Given the description of an element on the screen output the (x, y) to click on. 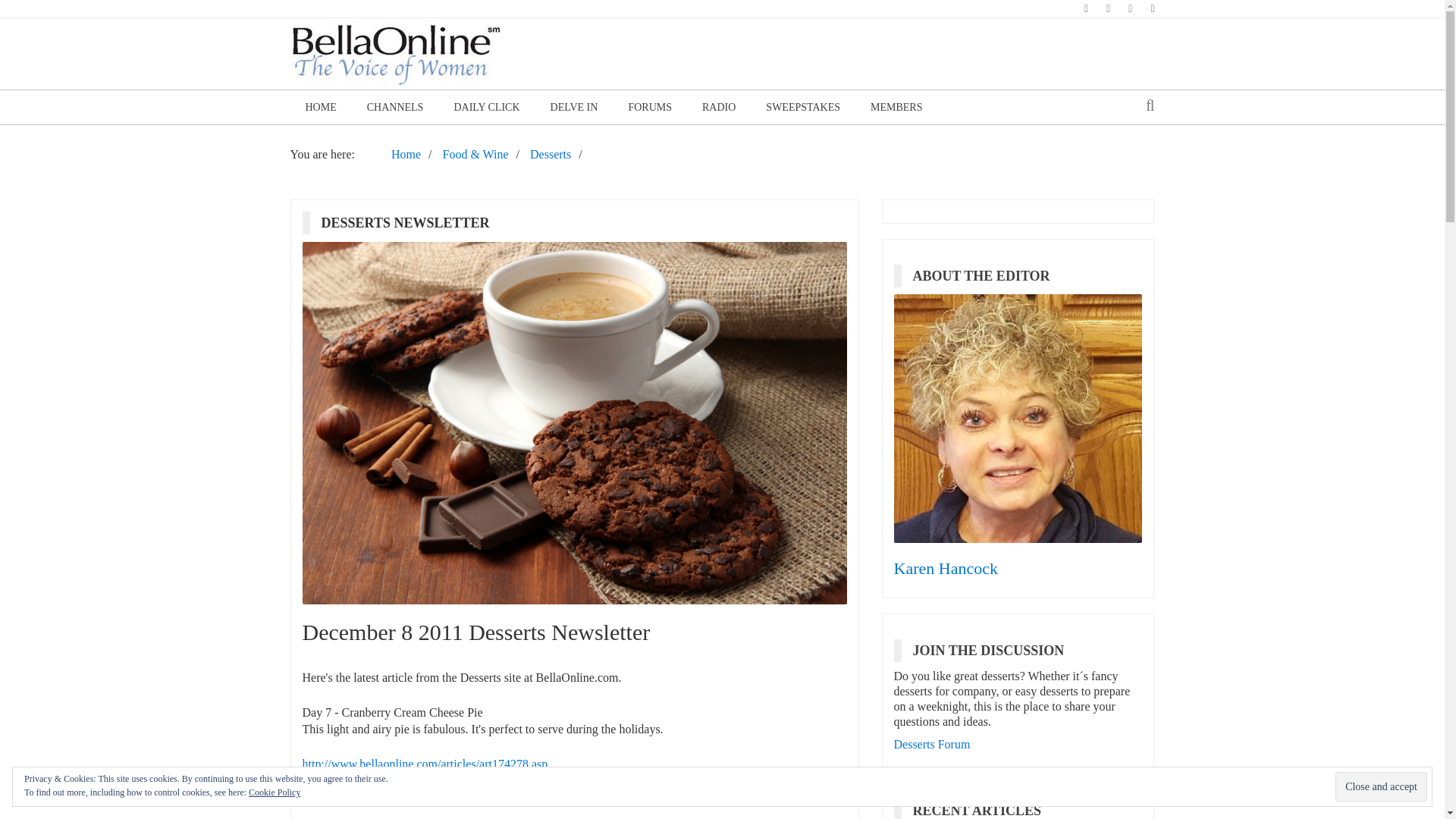
HOME (319, 107)
FORUMS (649, 107)
RADIO (719, 107)
DAILY CLICK (486, 107)
DELVE IN (573, 107)
Close and accept (1380, 786)
CHANNELS (395, 107)
SWEEPSTAKES (803, 107)
